Given the description of an element on the screen output the (x, y) to click on. 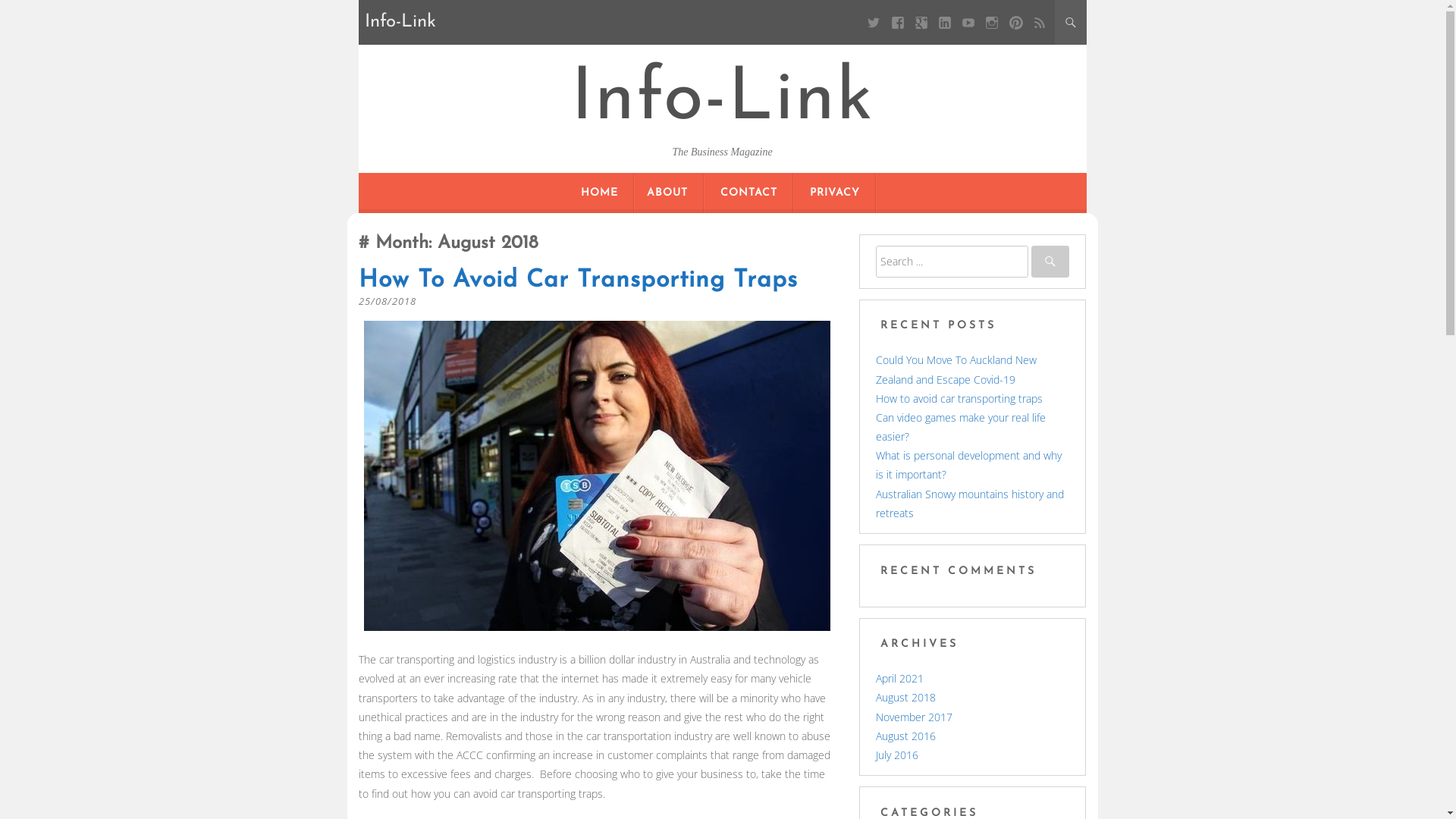
What is personal development and why is it important? Element type: text (968, 464)
CONTACT Element type: text (748, 193)
August 2018 Element type: text (905, 697)
Australian Snowy mountains history and retreats Element type: text (969, 503)
YouTube Element type: hover (968, 21)
PRIVACY Element type: text (834, 193)
July 2016 Element type: text (896, 754)
25/08/2018 Element type: text (386, 300)
Can video games make your real life easier? Element type: text (960, 426)
November 2017 Element type: text (913, 716)
Google Plus Element type: hover (920, 21)
August 2016 Element type: text (905, 735)
Info-Link Element type: text (721, 99)
Facebook Element type: hover (897, 21)
Twitter Element type: hover (873, 21)
ABOUT Element type: text (666, 193)
How to avoid car transporting traps Element type: text (958, 398)
LinkedIn Element type: hover (944, 21)
Pinterest Element type: hover (1015, 21)
Instagram Element type: hover (991, 21)
How To Avoid Car Transporting Traps Element type: text (577, 280)
RSS Element type: hover (1038, 21)
April 2021 Element type: text (899, 678)
Could You Move To Auckland New Zealand and Escape Covid-19 Element type: text (955, 368)
SKIP TO CONTENT Element type: text (721, 172)
HOME Element type: text (599, 193)
